Given the description of an element on the screen output the (x, y) to click on. 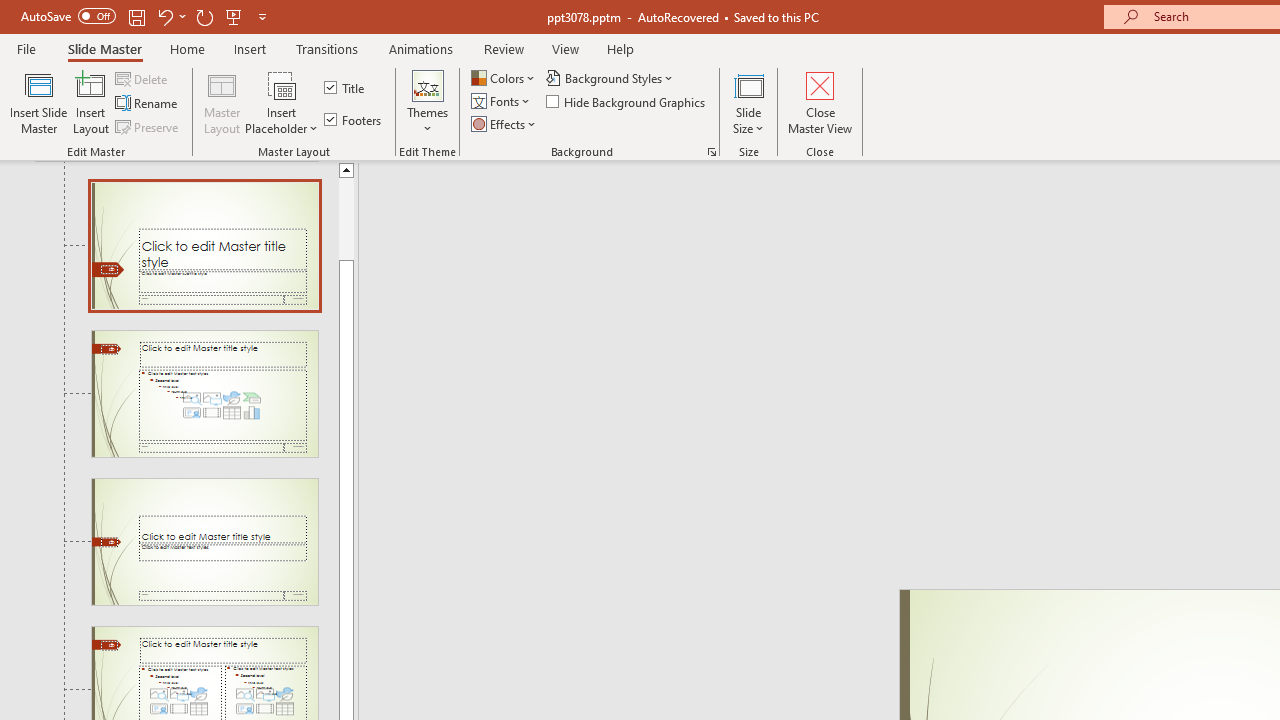
Rename (148, 103)
Preserve (148, 126)
Fonts (502, 101)
Master Layout... (221, 102)
Slide Title Slide Layout: used by slide(s) 1 (204, 245)
Hide Background Graphics (626, 101)
Content (282, 84)
